Given the description of an element on the screen output the (x, y) to click on. 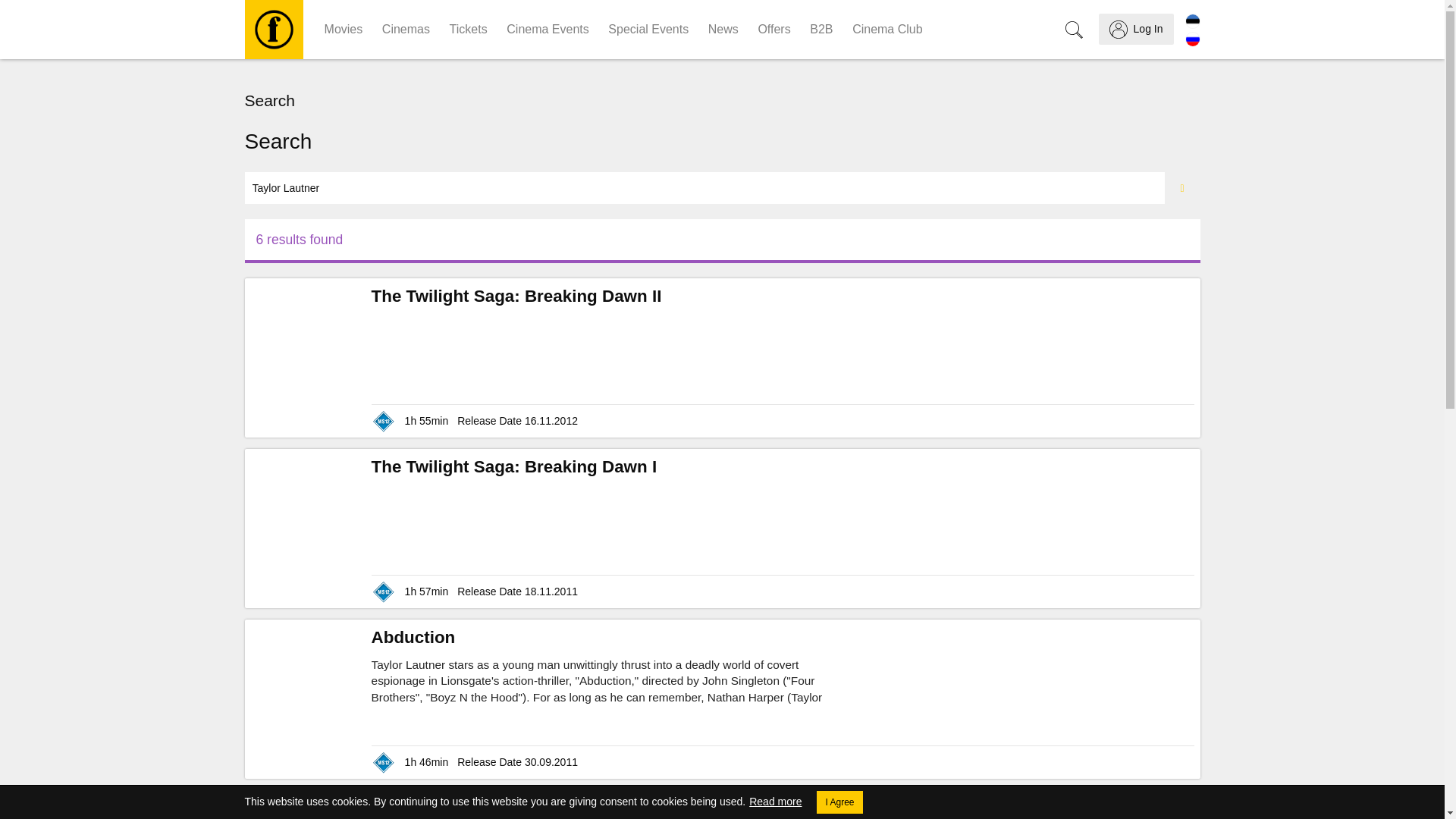
The Twilight Saga: Breaking Dawn II (516, 295)
Cinema Events (547, 29)
Cinemas (405, 29)
Movies (343, 29)
Tickets (468, 29)
Special Events (648, 29)
Cinema Club (887, 29)
Forum Cinemas (273, 29)
Under 12 Not Recommended (383, 421)
Under 12 Not Recommended (383, 591)
Taylor Lautner (704, 187)
Under 12 Not Recommended (383, 762)
